Given the description of an element on the screen output the (x, y) to click on. 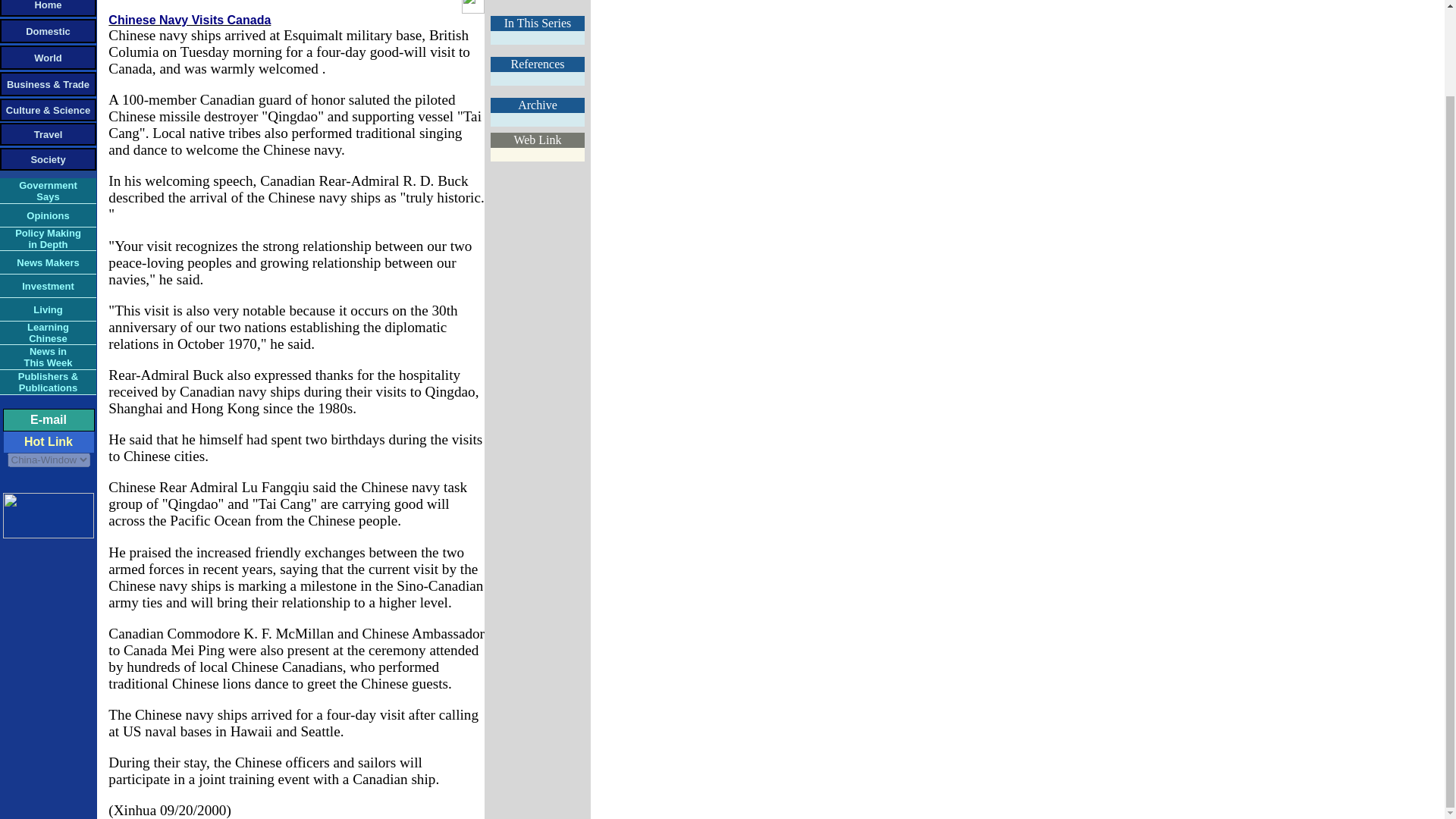
Opinions (47, 238)
News Makers (47, 331)
Investment (47, 214)
E-mail (47, 261)
World (47, 284)
Travel (47, 190)
Society (48, 419)
Home (47, 57)
Domestic (47, 132)
Living (47, 158)
